Given the description of an element on the screen output the (x, y) to click on. 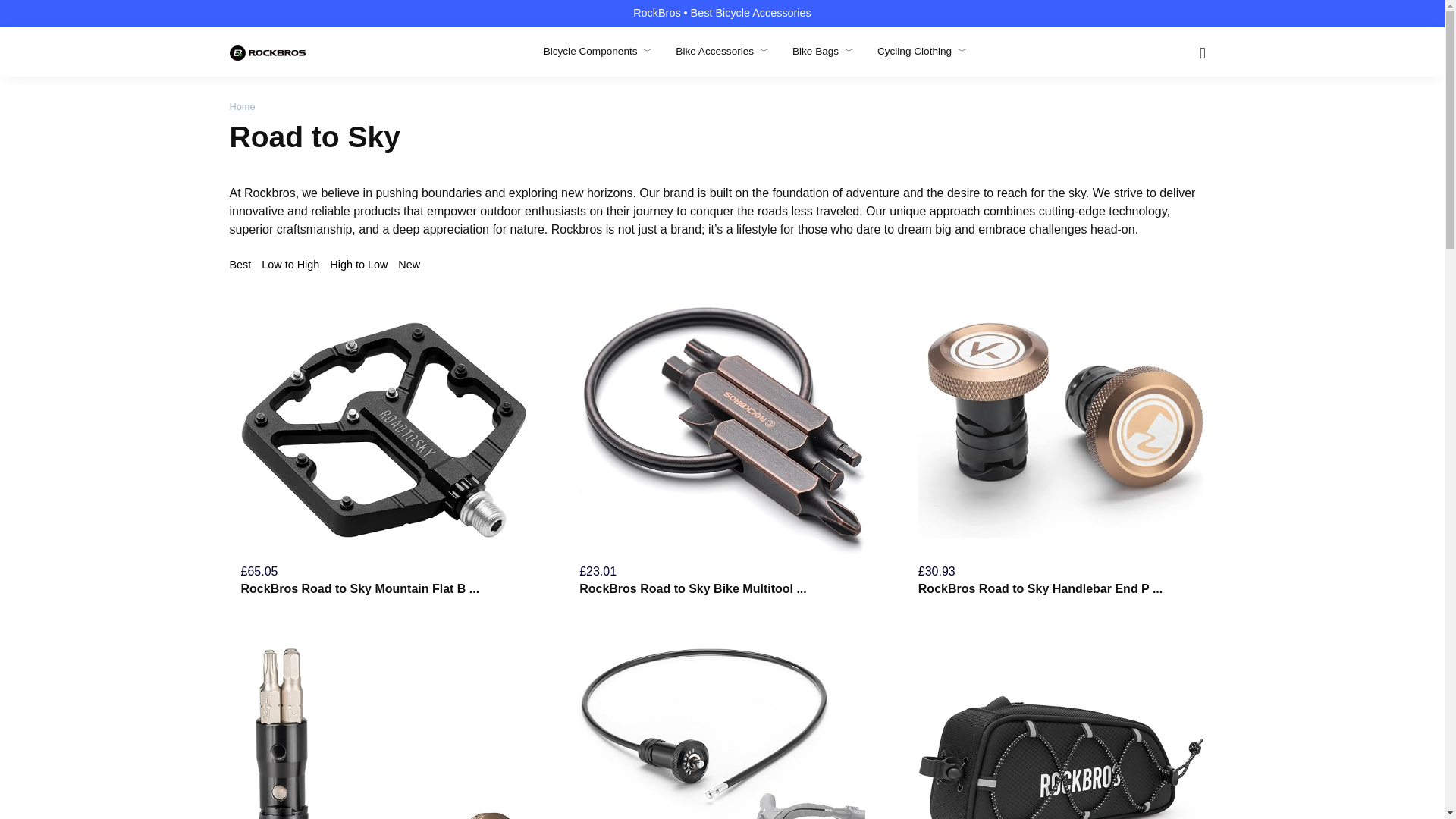
High to Low (363, 264)
Home (241, 106)
New (408, 264)
Bike Accessories (722, 50)
Bike Bags (823, 50)
RockBros Road to Sky Bike Multitool ... (692, 588)
Low to High (296, 264)
Best (243, 264)
Cycling Clothing (922, 50)
RockBros Road to Sky Handlebar End P ... (1039, 588)
